Given the description of an element on the screen output the (x, y) to click on. 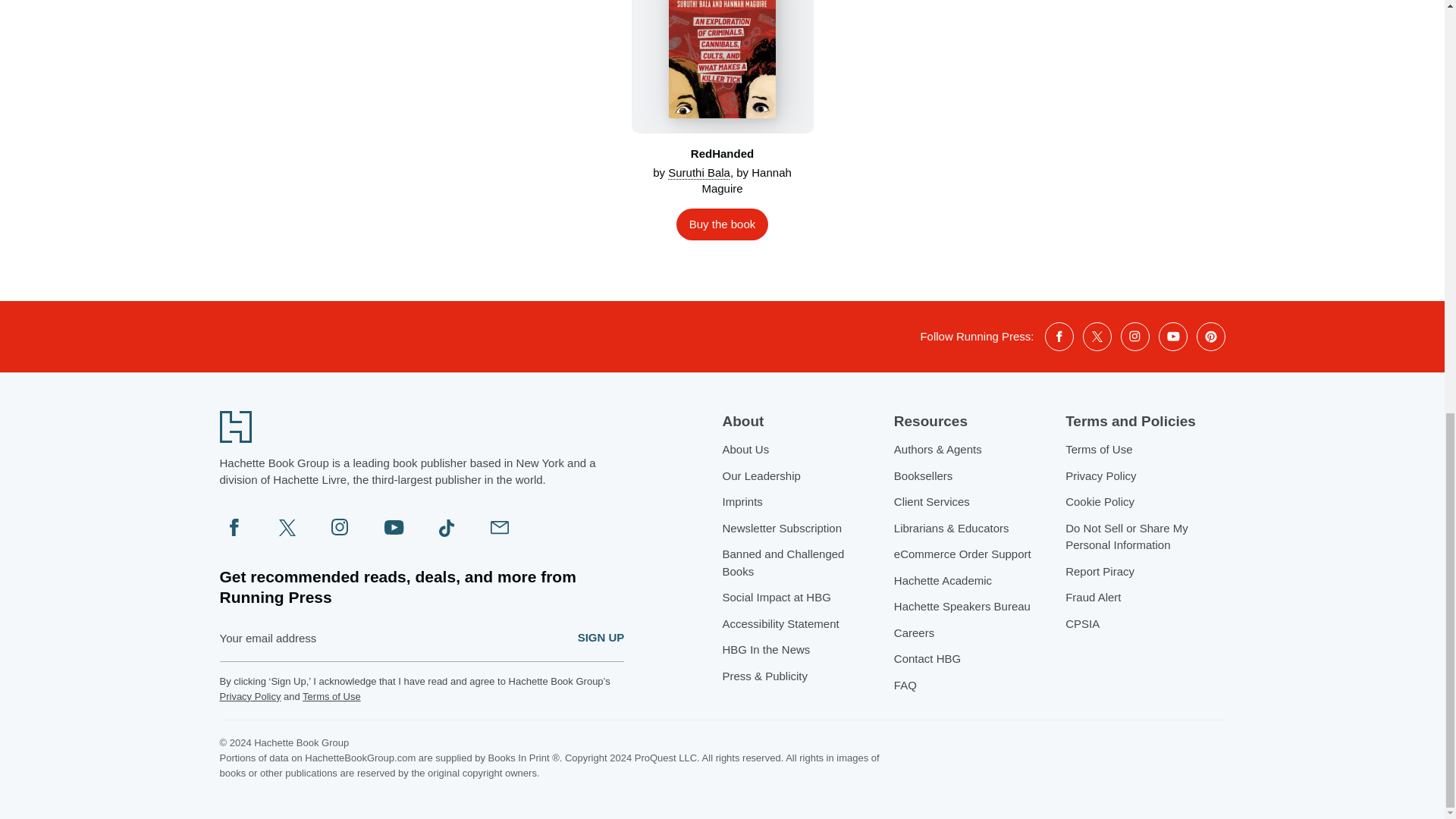
RedHanded (721, 66)
